Given the description of an element on the screen output the (x, y) to click on. 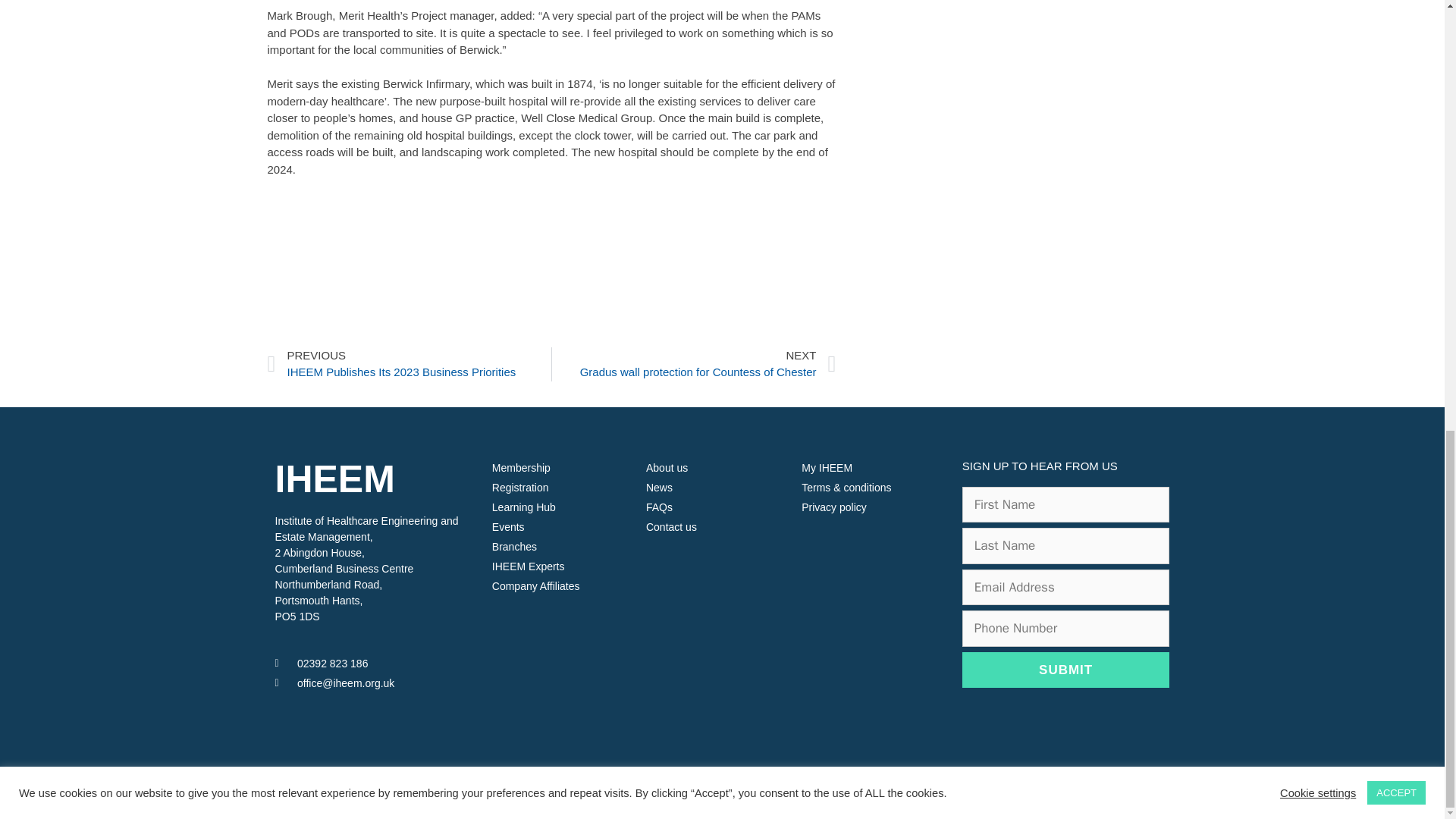
Scroll back to top (1406, 626)
Submit (1066, 669)
